Given the description of an element on the screen output the (x, y) to click on. 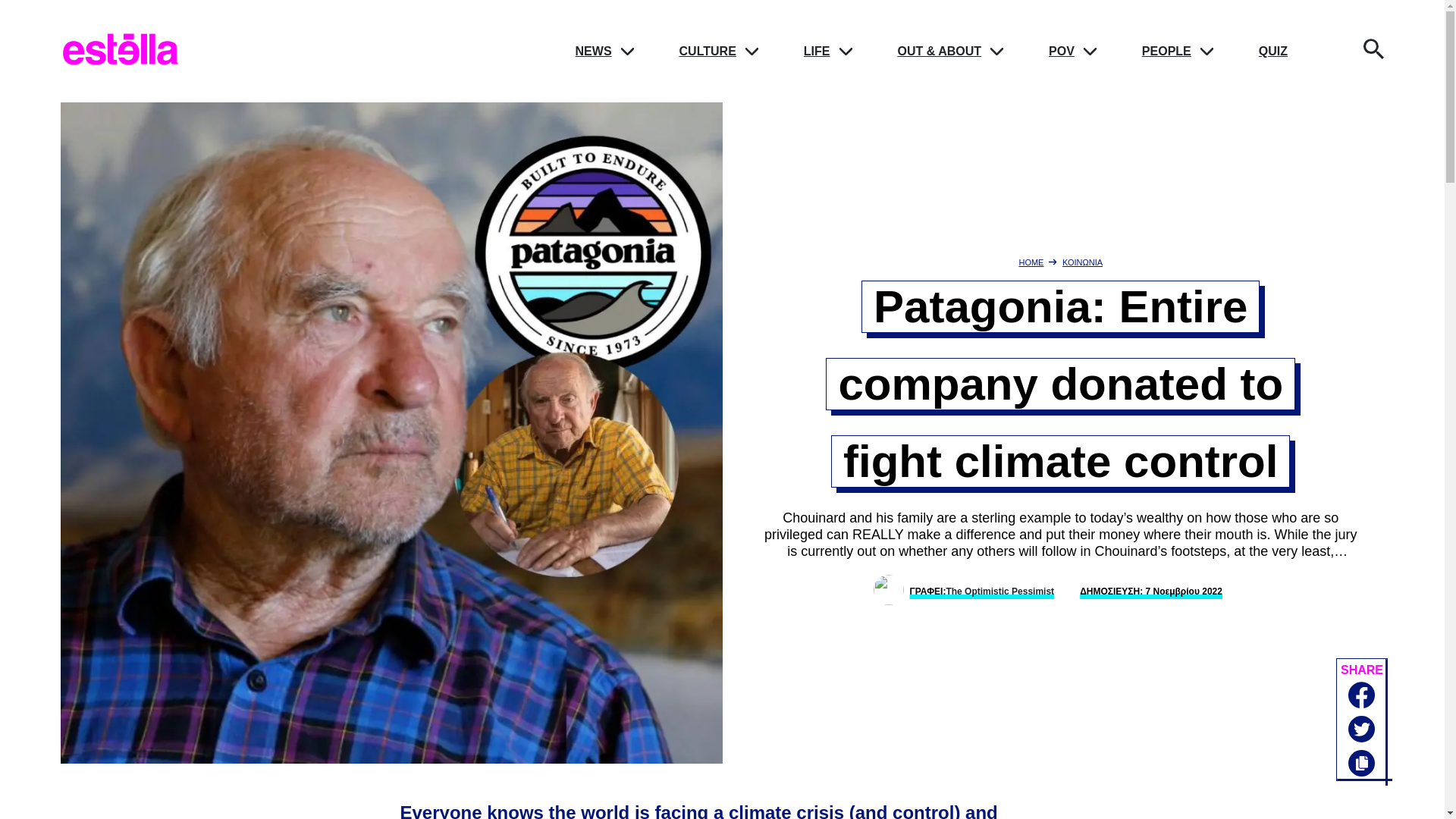
Estella (120, 63)
QUIZ (1273, 51)
LIFE (816, 51)
The Optimistic Pessimist (999, 591)
CULTURE (707, 51)
HOME (1030, 262)
PEOPLE (1166, 51)
POV (1061, 51)
NEWS (593, 51)
